Given the description of an element on the screen output the (x, y) to click on. 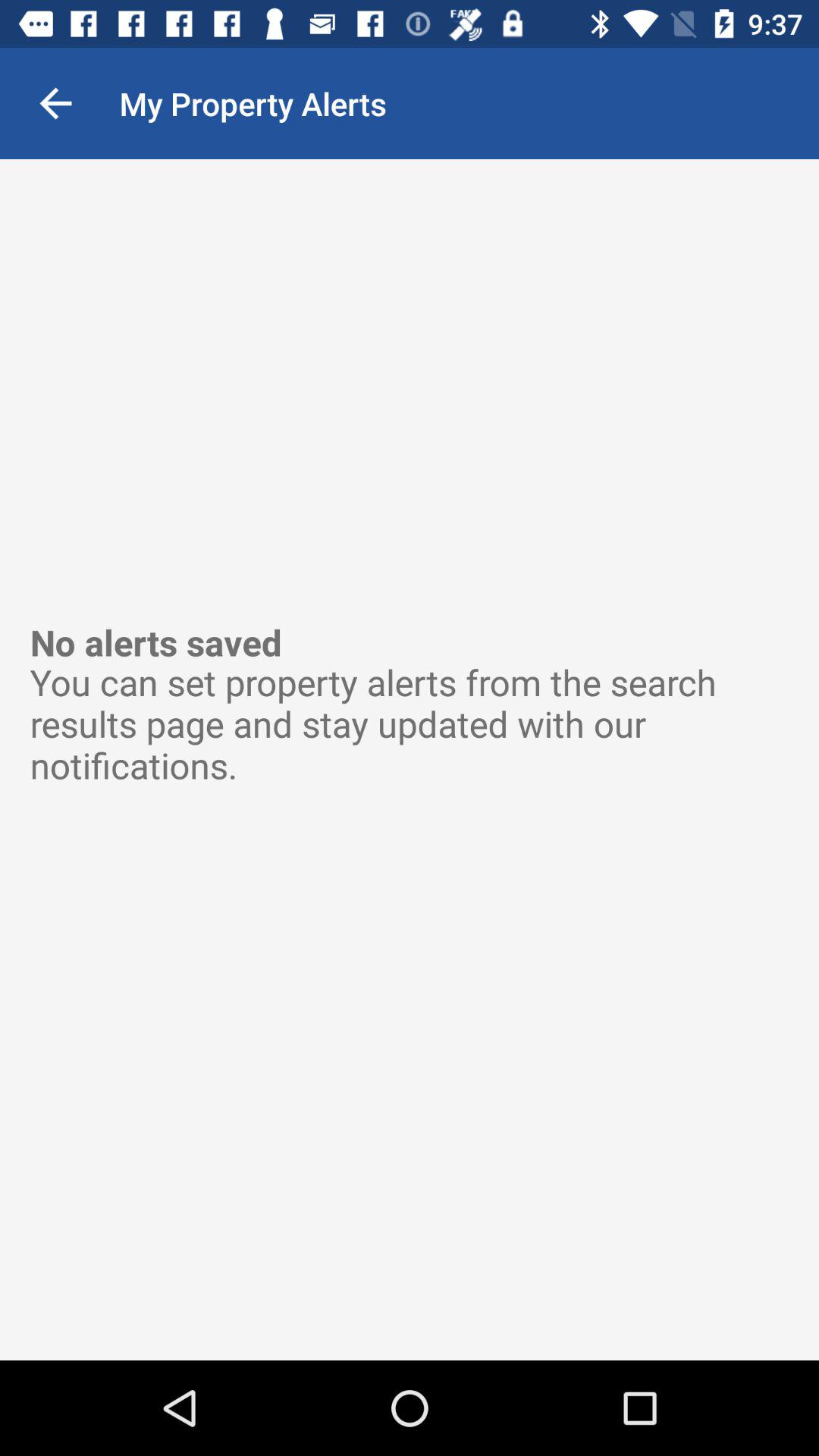
choose the app next to my property alerts app (55, 103)
